Given the description of an element on the screen output the (x, y) to click on. 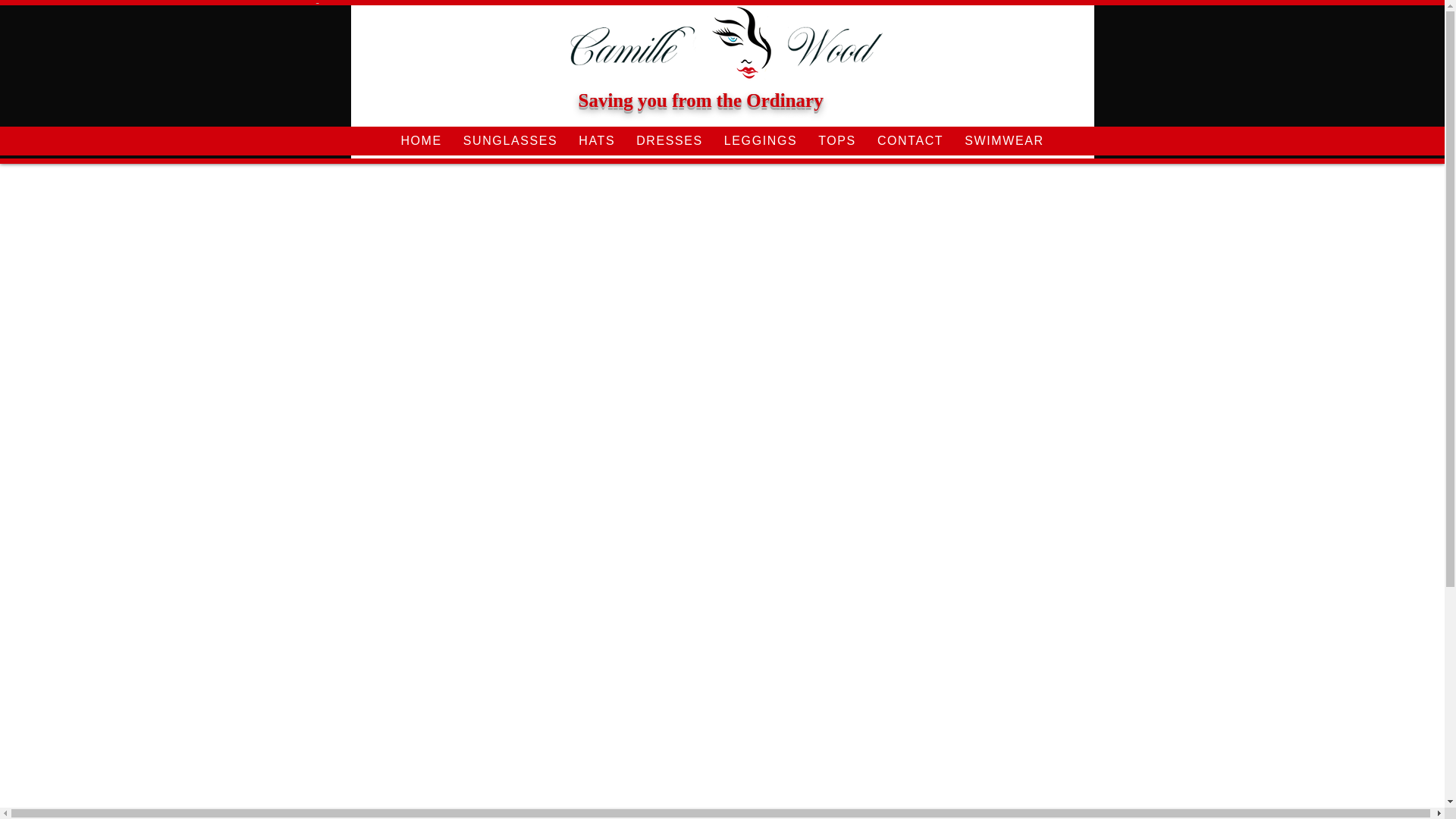
CONTACT (909, 140)
SUNGLASSES (509, 140)
HOME (420, 140)
TOPS (836, 140)
LEGGINGS (760, 140)
HATS (596, 140)
DRESSES (669, 140)
SWIMWEAR (1003, 140)
